Given the description of an element on the screen output the (x, y) to click on. 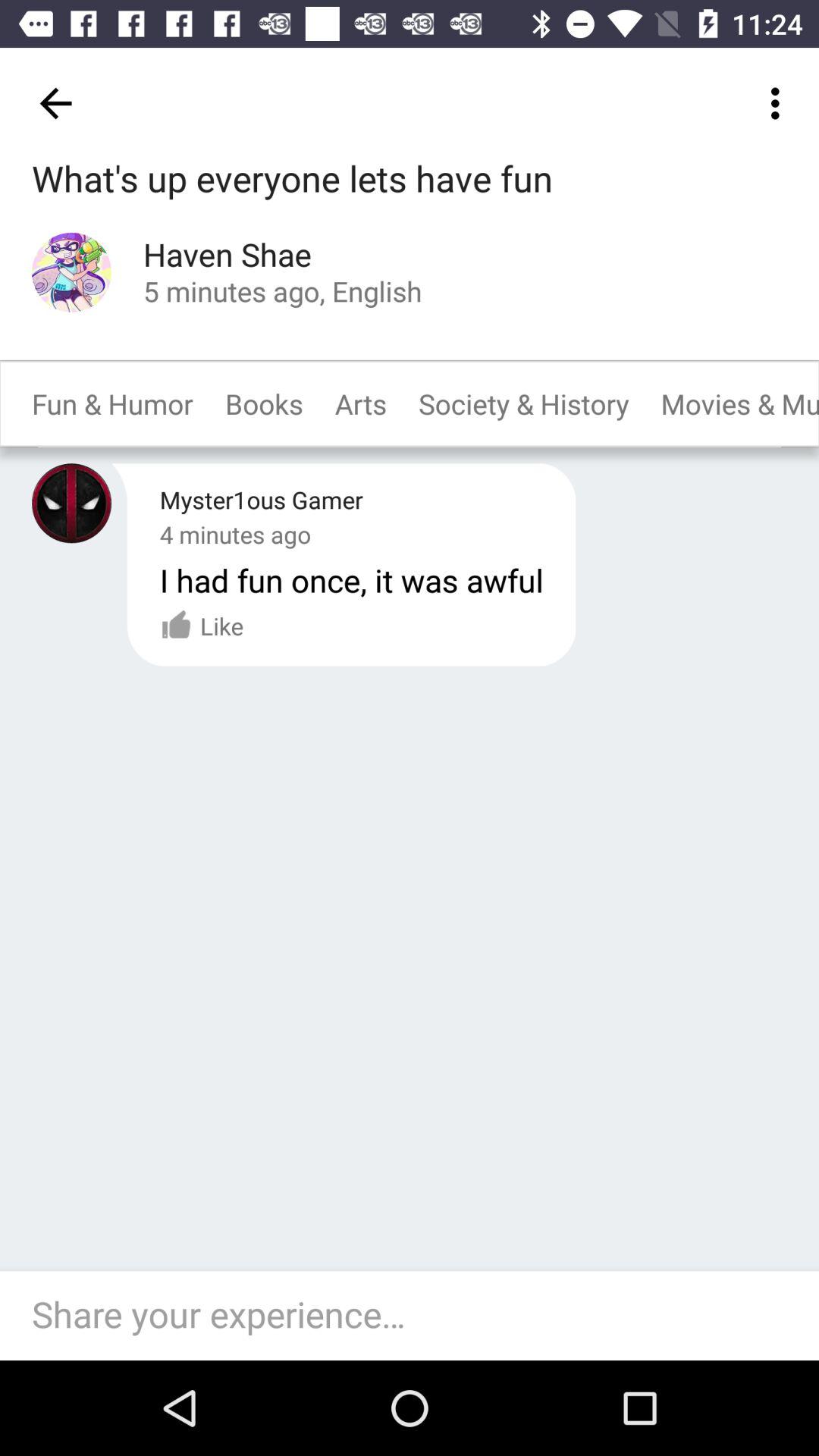
avatar (71, 503)
